Given the description of an element on the screen output the (x, y) to click on. 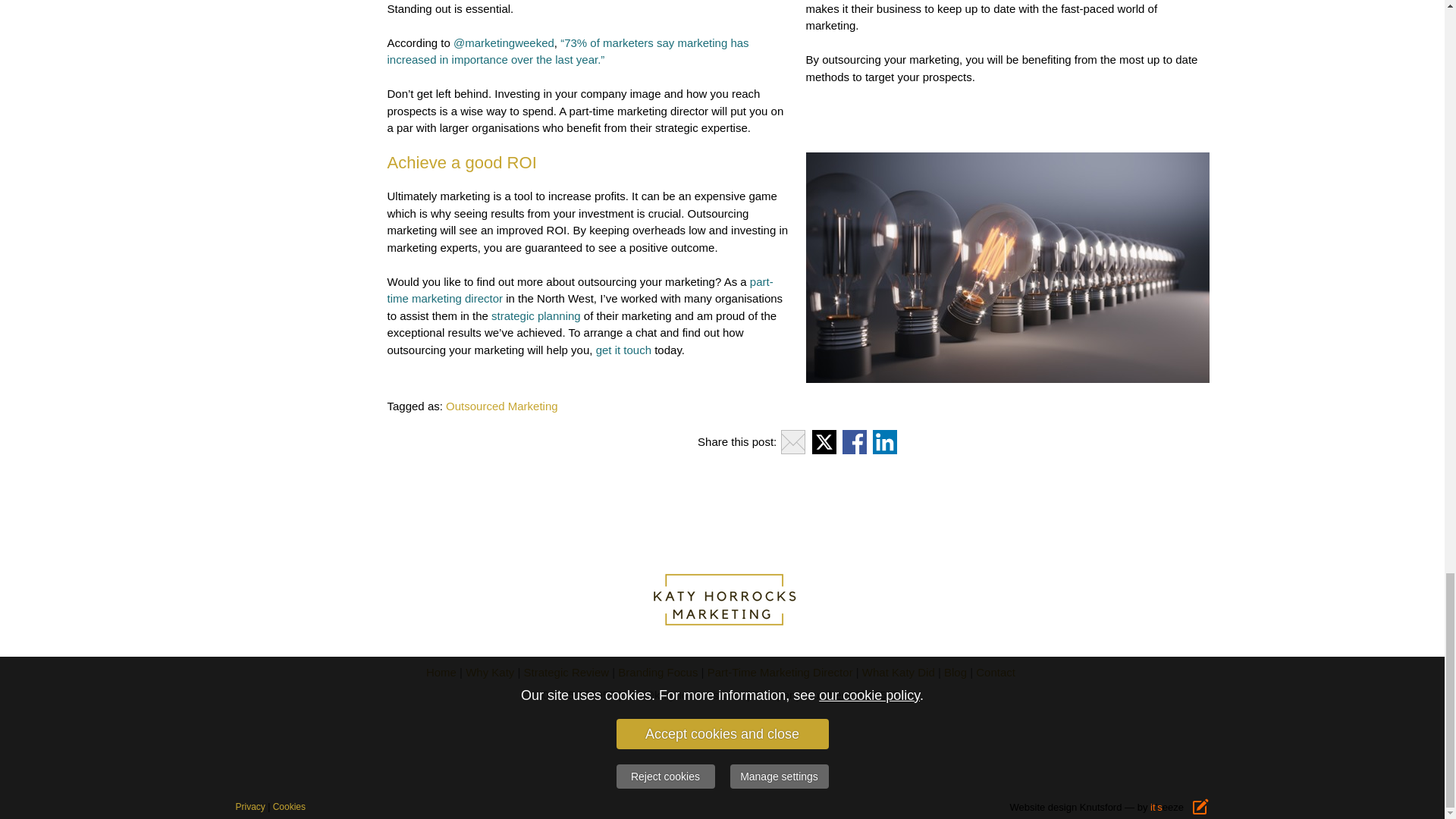
What Katy Did (897, 671)
Part-Time Marketing Director (780, 671)
Why Katy (489, 671)
Branding Focus (657, 671)
Home (441, 671)
get it touch (622, 349)
Blog (954, 671)
strategic planning (536, 315)
part-time marketing director (580, 290)
Contact (994, 671)
Outsourced Marketing (501, 405)
Strategic Review (567, 671)
